Given the description of an element on the screen output the (x, y) to click on. 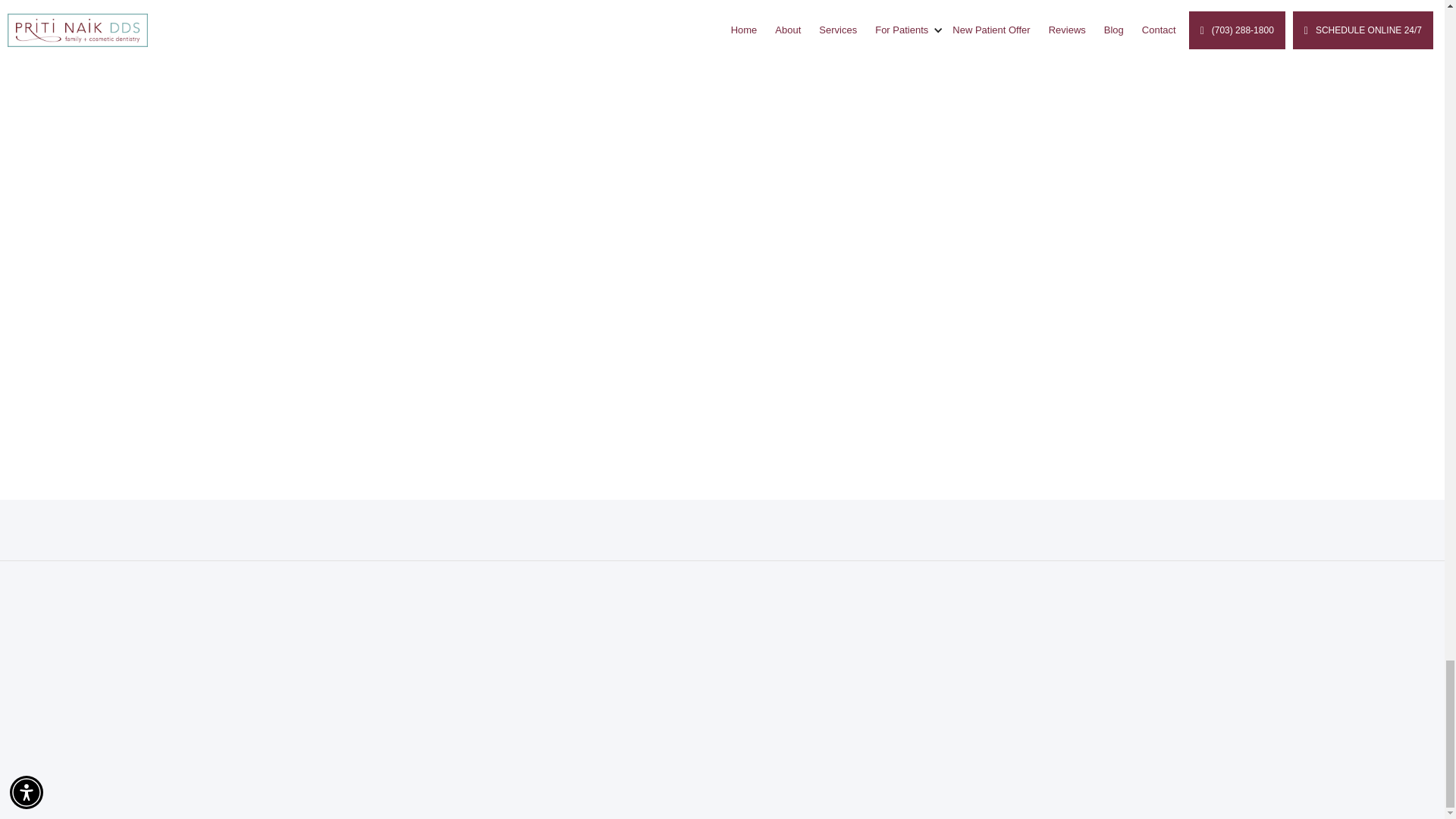
Send Message (721, 449)
